Given the description of an element on the screen output the (x, y) to click on. 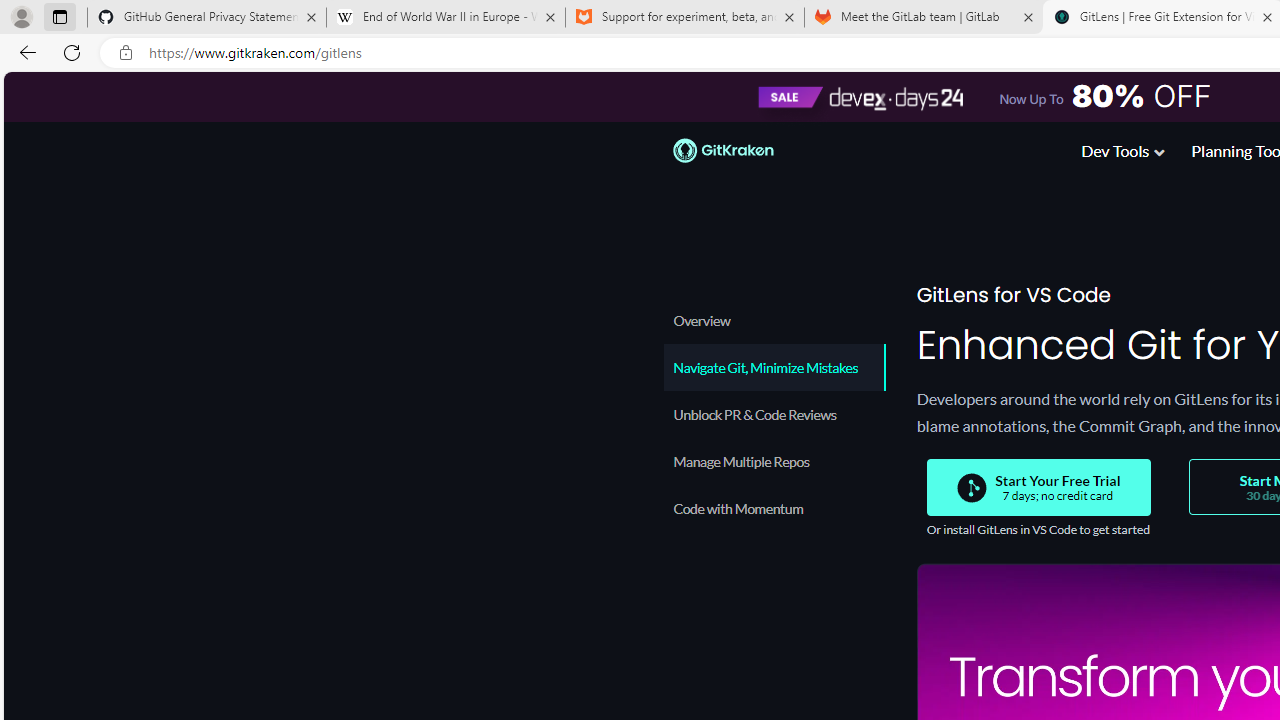
Manage Multiple Repos (773, 461)
Meet the GitLab team | GitLab (924, 17)
Start Your Free Trial 7 days; no credit card (1037, 487)
Code with Momentum (774, 508)
Unblock PR & Code Reviews (773, 414)
Manage Multiple Repos (774, 461)
GitHub General Privacy Statement - GitHub Docs (207, 17)
Or install GitLens in VS Code to get started (1037, 529)
